Given the description of an element on the screen output the (x, y) to click on. 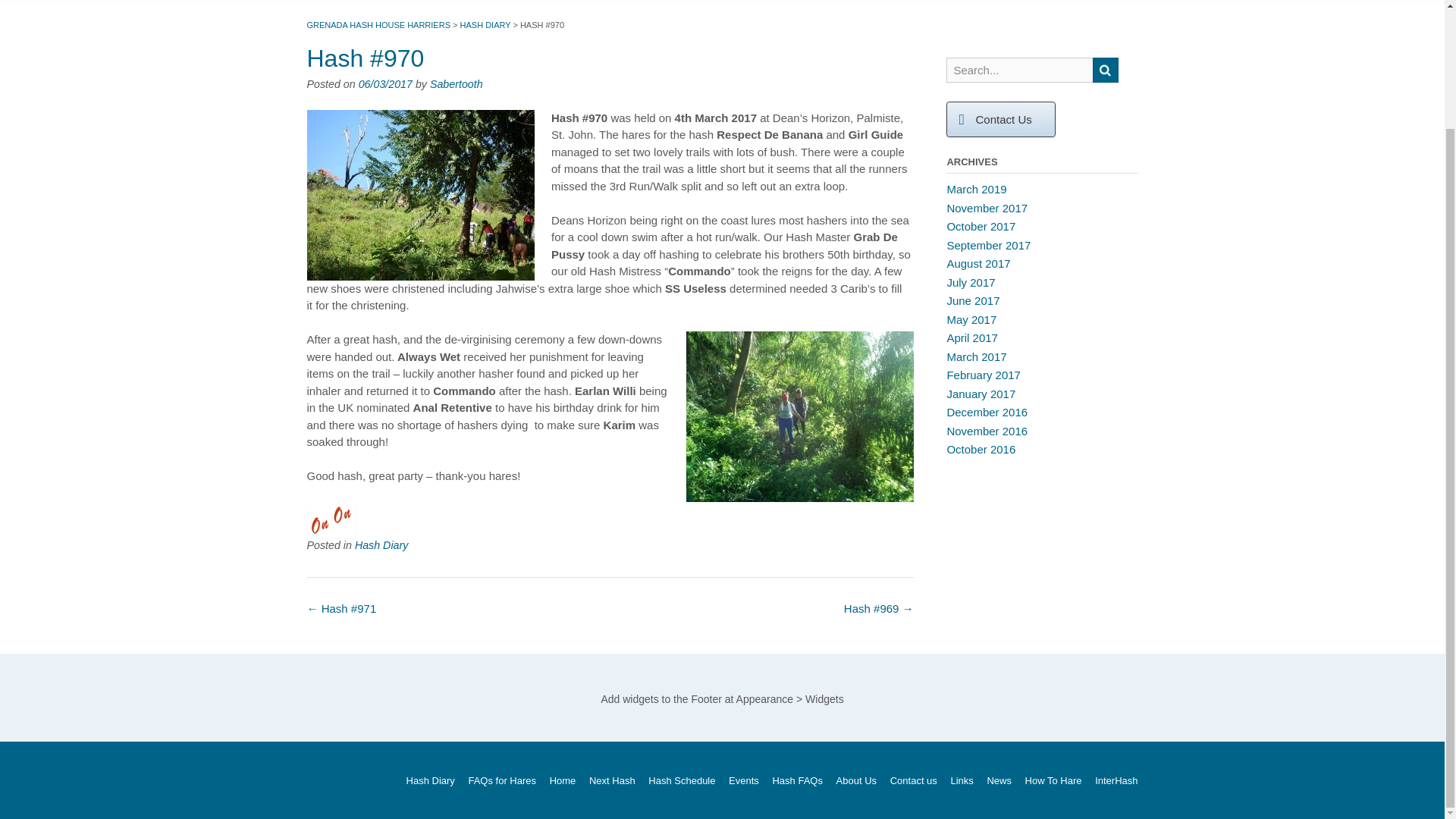
FAQs for Hares (502, 780)
May 2017 (970, 318)
HASH DIARY (485, 24)
NEWS (339, 20)
December 2016 (986, 411)
March 2019 (976, 188)
Home (562, 780)
July 2017 (970, 281)
Search for: (1019, 69)
Sabertooth (456, 83)
